Given the description of an element on the screen output the (x, y) to click on. 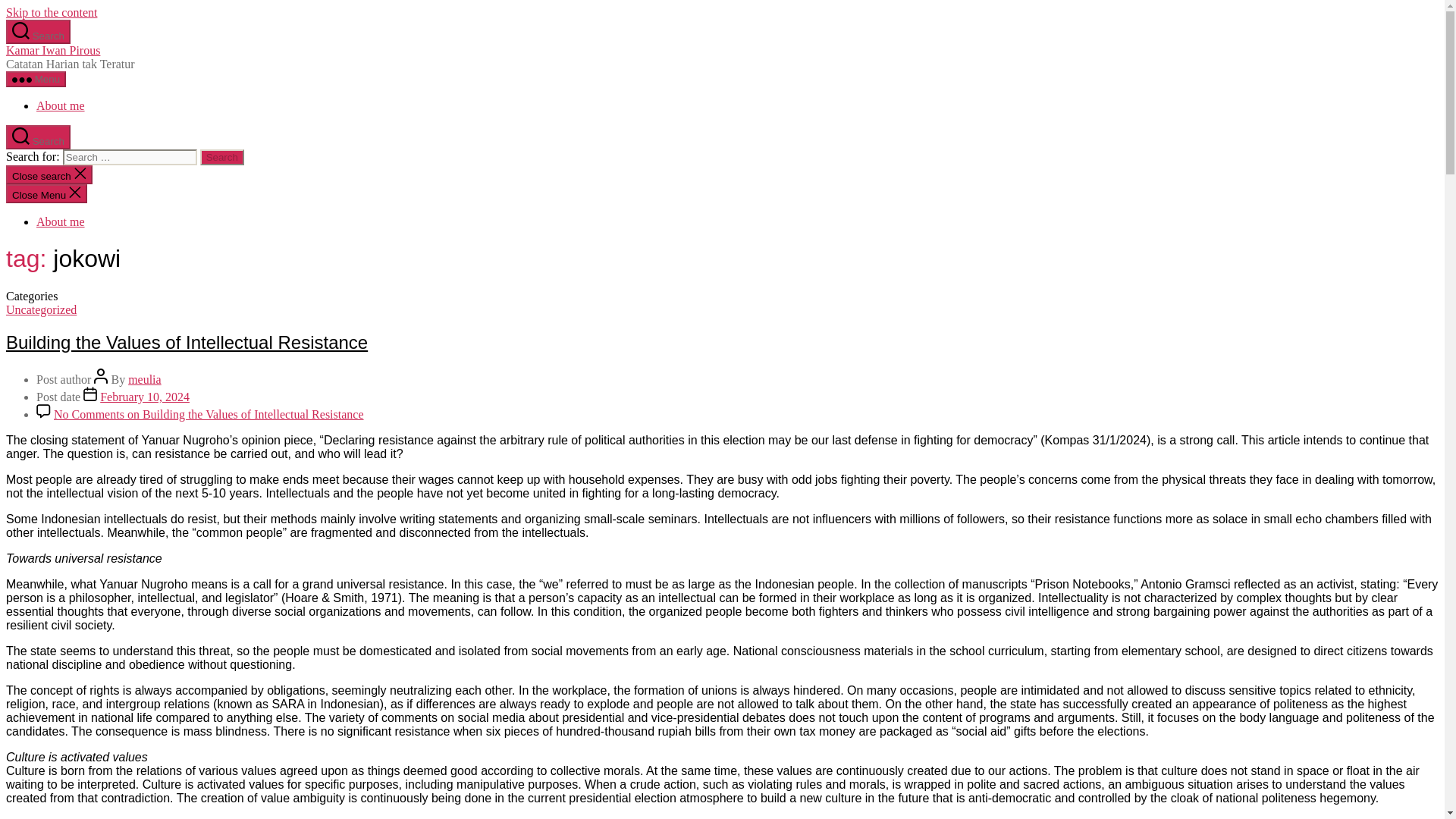
About me (60, 221)
Search (222, 157)
Uncategorized (41, 309)
Kamar Iwan Pirous (52, 50)
February 10, 2024 (144, 396)
Search (37, 137)
Menu (35, 78)
Close Menu (46, 193)
meulia (144, 379)
Close search (49, 174)
Building the Values of Intellectual Resistance (186, 342)
Search (222, 157)
Search (37, 31)
About me (60, 105)
